Given the description of an element on the screen output the (x, y) to click on. 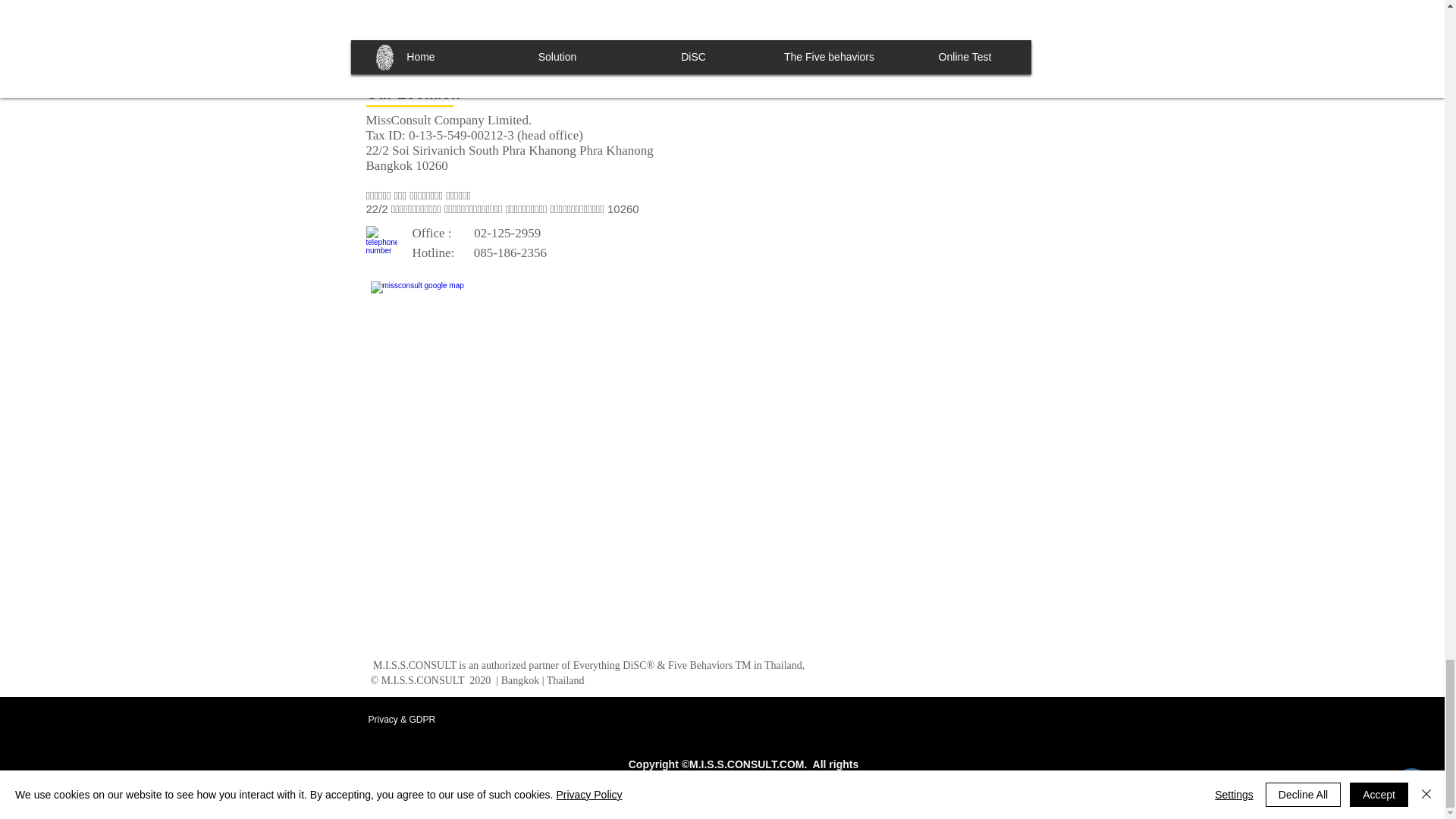
G - Map.png (442, 300)
